Given the description of an element on the screen output the (x, y) to click on. 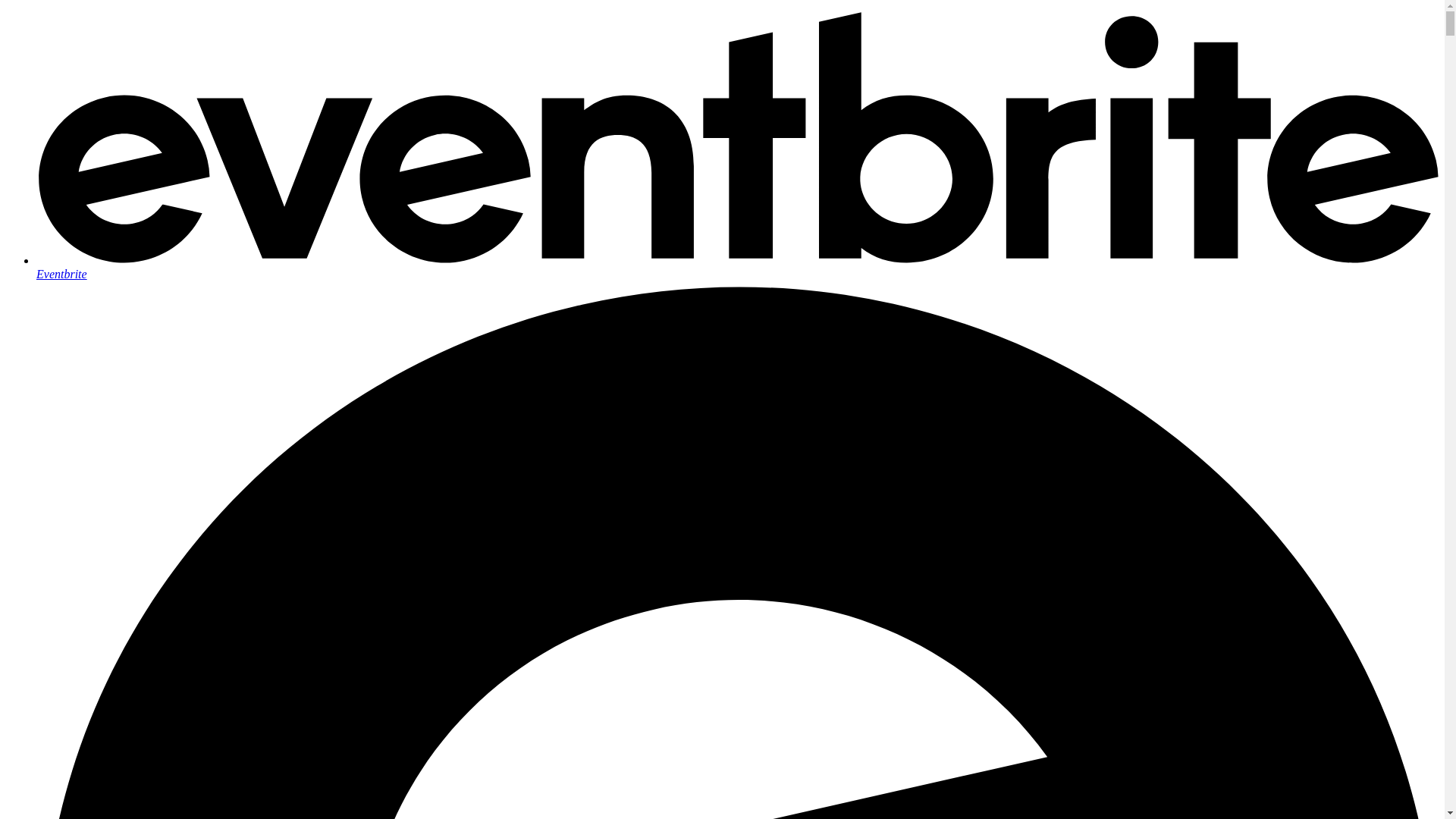
Eventbrite Element type: text (737, 267)
